Given the description of an element on the screen output the (x, y) to click on. 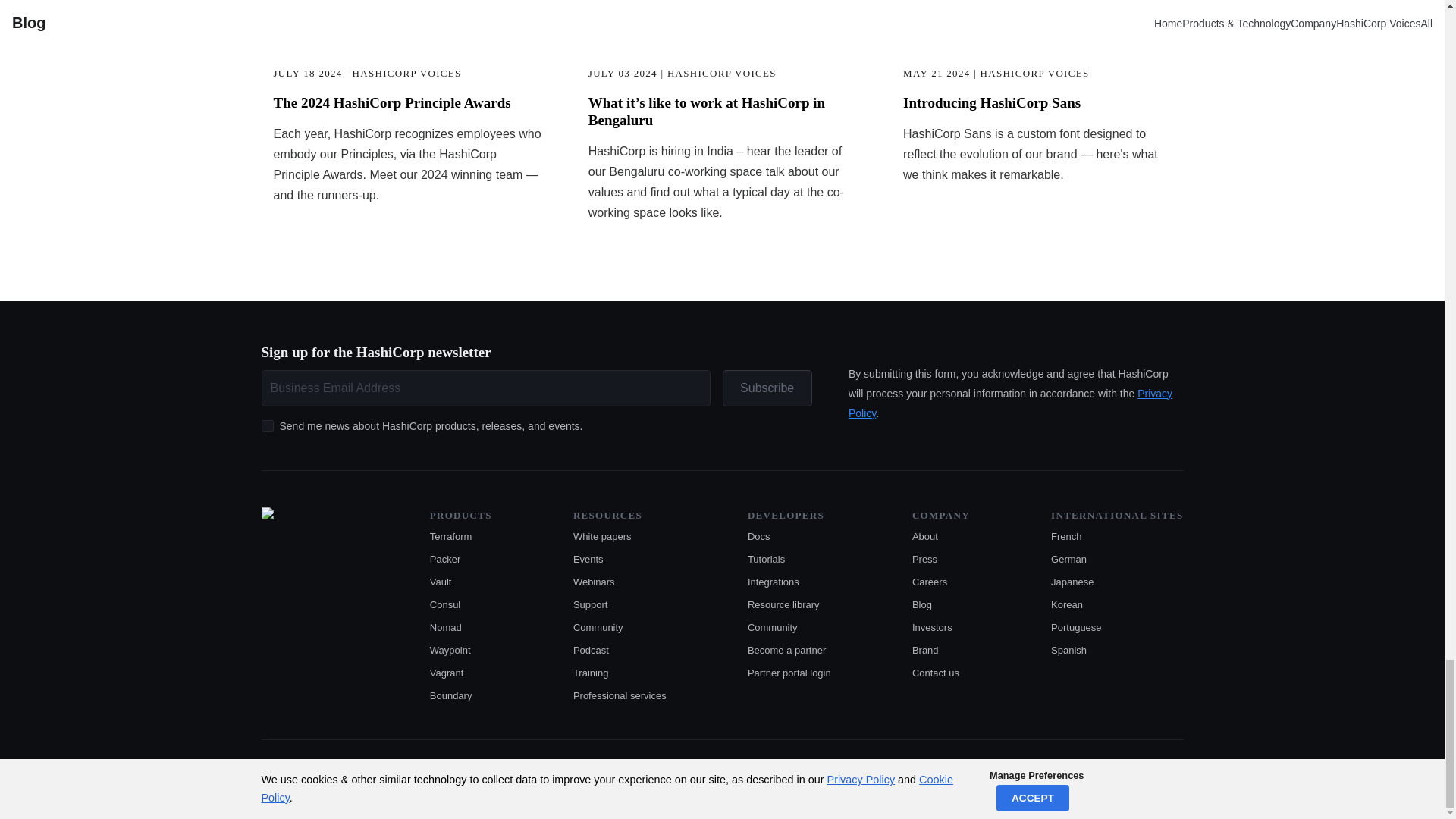
on (266, 426)
